Given the description of an element on the screen output the (x, y) to click on. 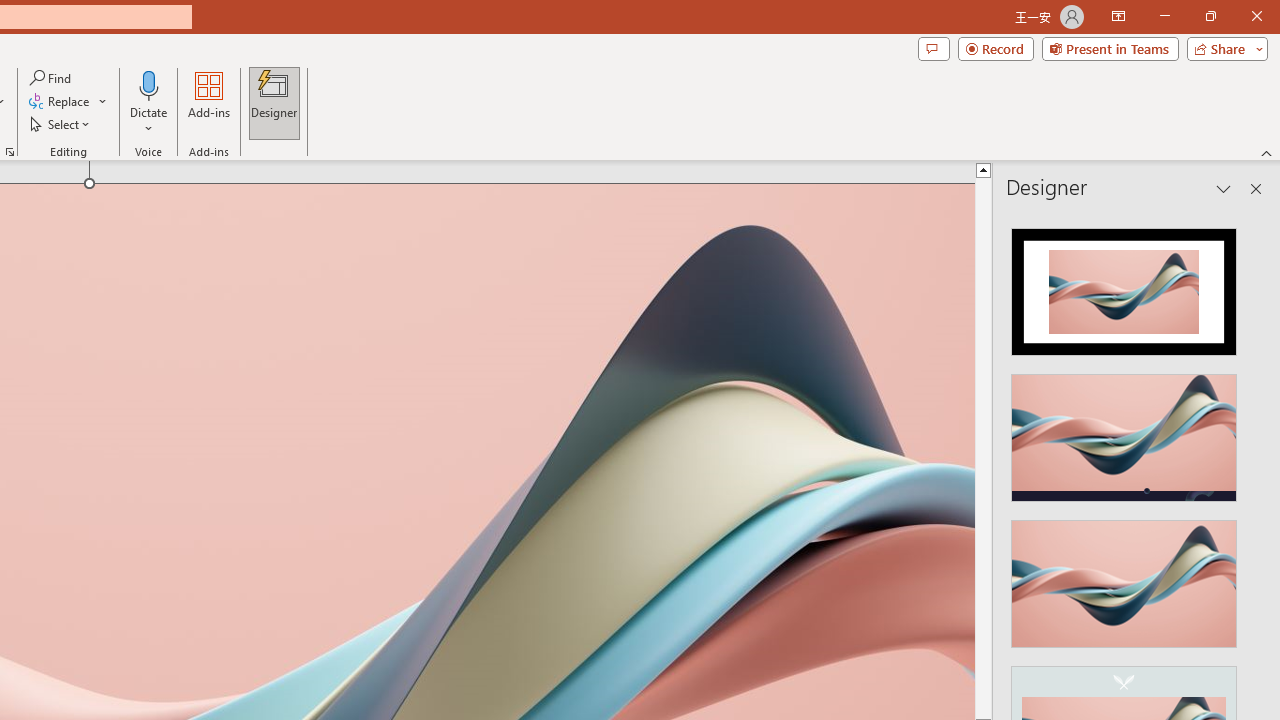
Design Idea (1124, 577)
